Given the description of an element on the screen output the (x, y) to click on. 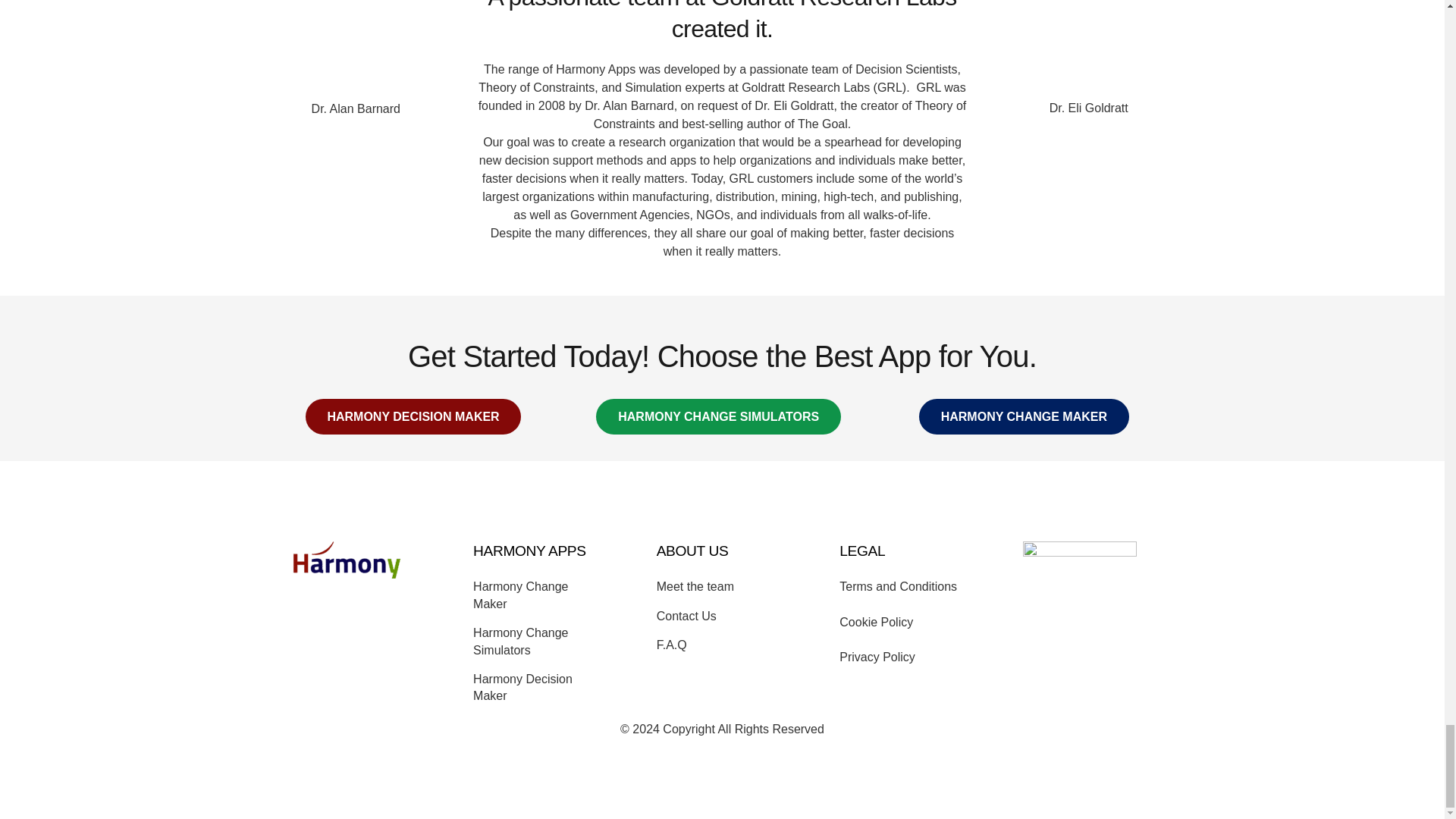
HARMONY DECISION MAKER (413, 416)
HARMONY CHANGE SIMULATORS (718, 416)
Harmony Decision Maker (413, 416)
Harmony Change Maker (1023, 416)
Harmony Change Simulators (718, 416)
